Given the description of an element on the screen output the (x, y) to click on. 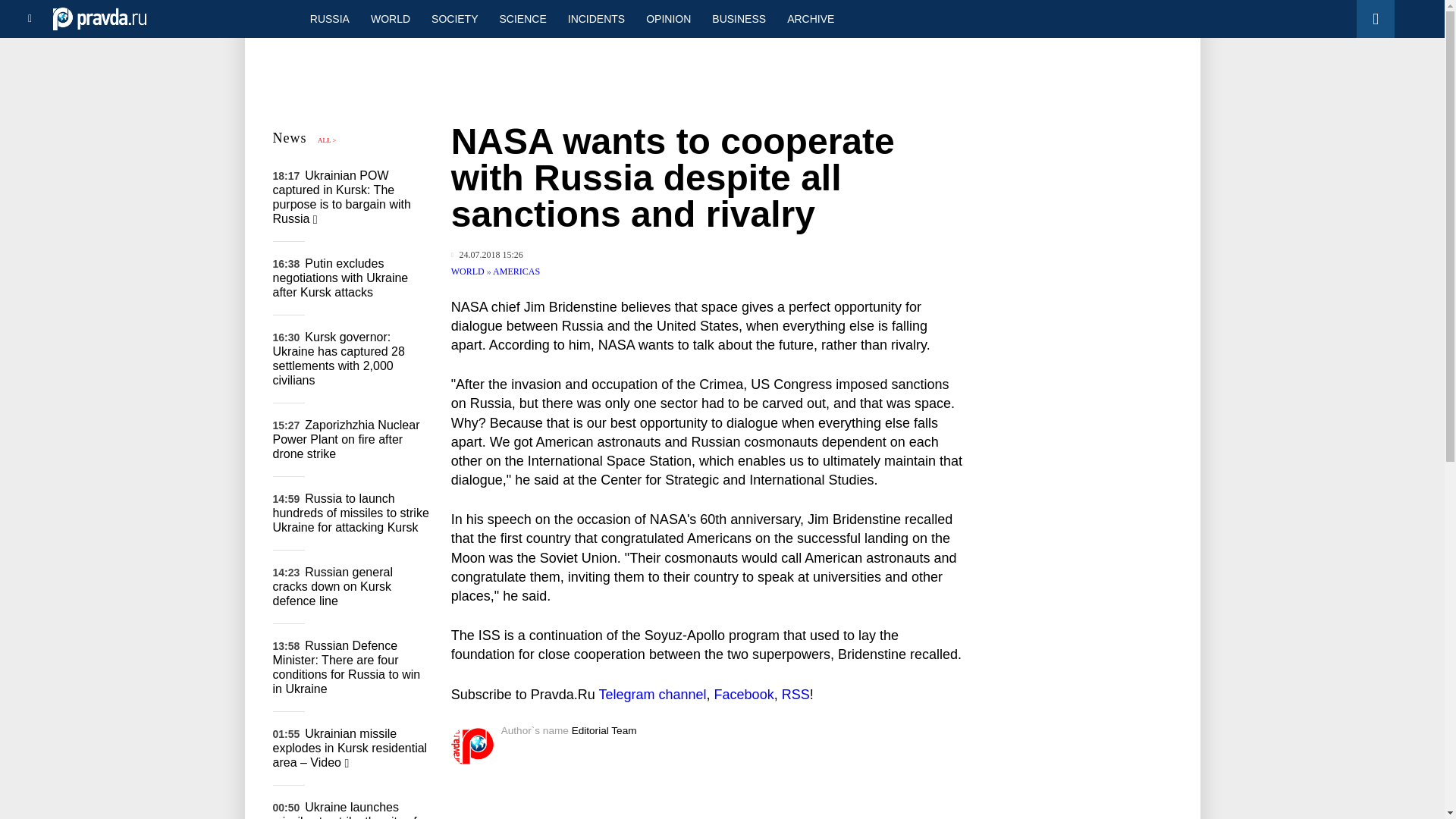
Ukraine launches missiles to strike the city of Kursk (344, 809)
SOCIETY (453, 18)
Putin excludes negotiations with Ukraine after Kursk attacks (341, 277)
WORLD (389, 18)
Published (486, 255)
Zaporizhzhia Nuclear Power Plant on fire after drone strike (346, 439)
INCIDENTS (595, 18)
SCIENCE (523, 18)
